Given the description of an element on the screen output the (x, y) to click on. 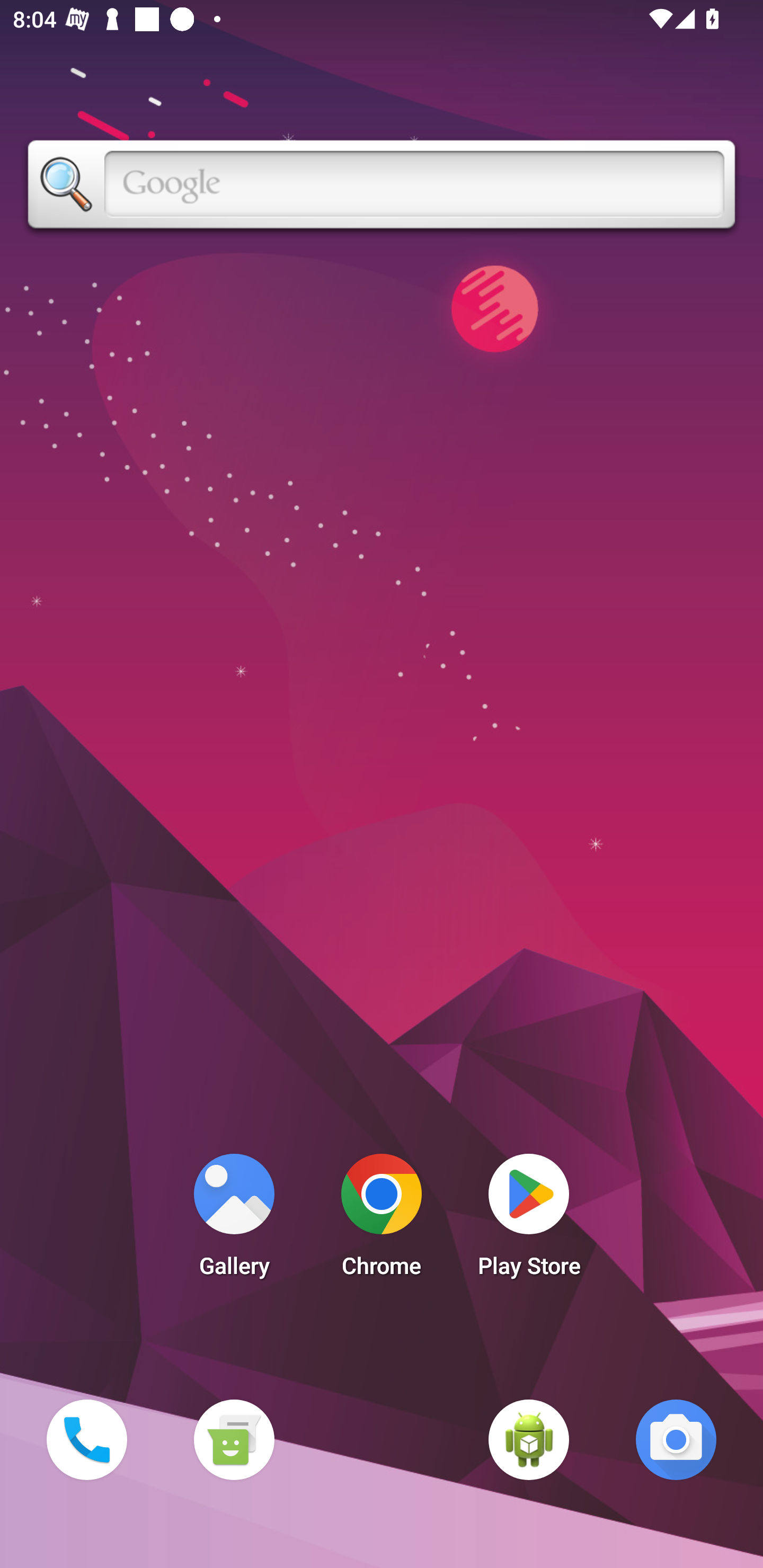
Gallery (233, 1220)
Chrome (381, 1220)
Play Store (528, 1220)
Phone (86, 1439)
Messaging (233, 1439)
WebView Browser Tester (528, 1439)
Camera (676, 1439)
